Given the description of an element on the screen output the (x, y) to click on. 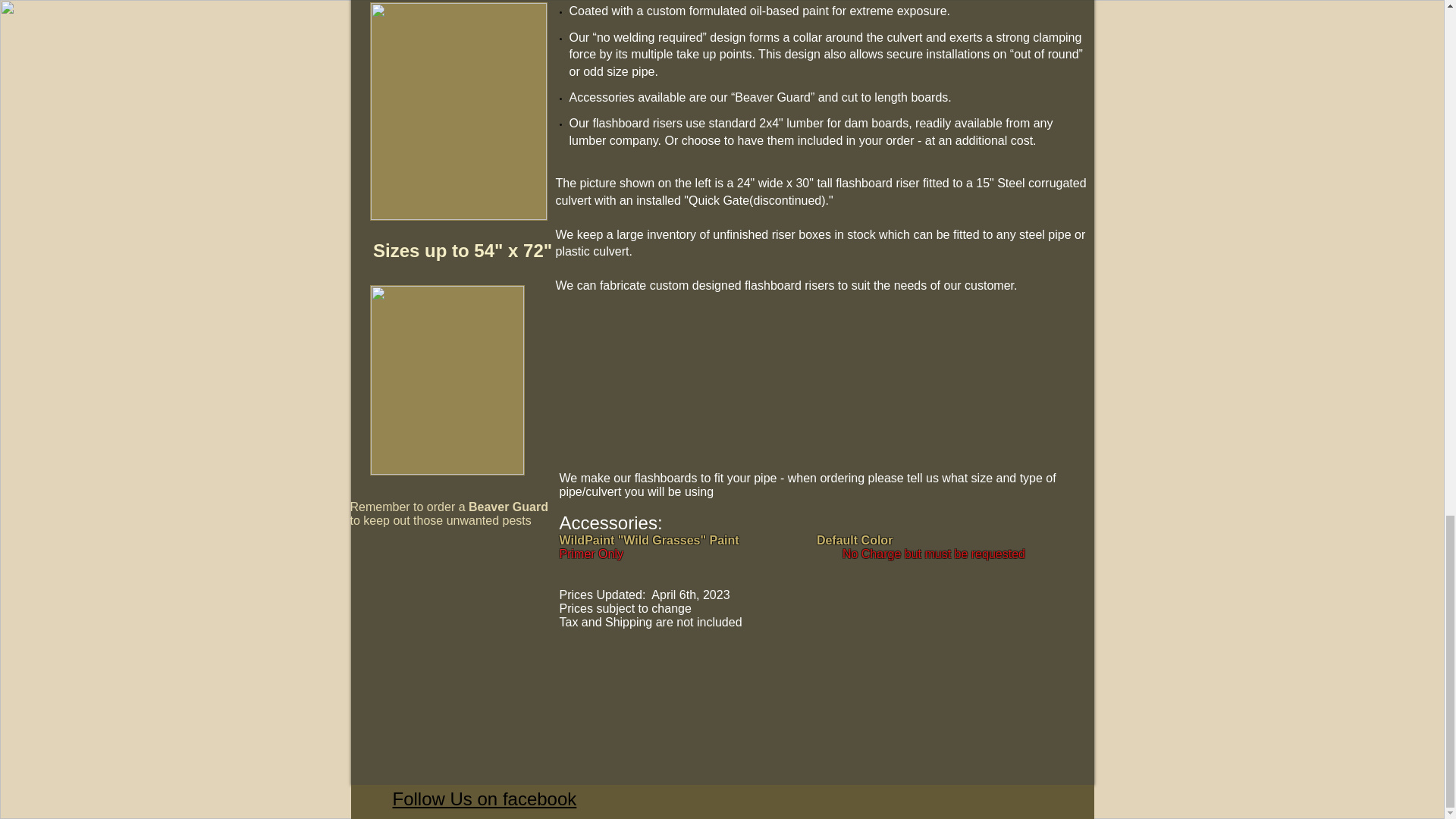
Follow Us on facebook (484, 798)
